Given the description of an element on the screen output the (x, y) to click on. 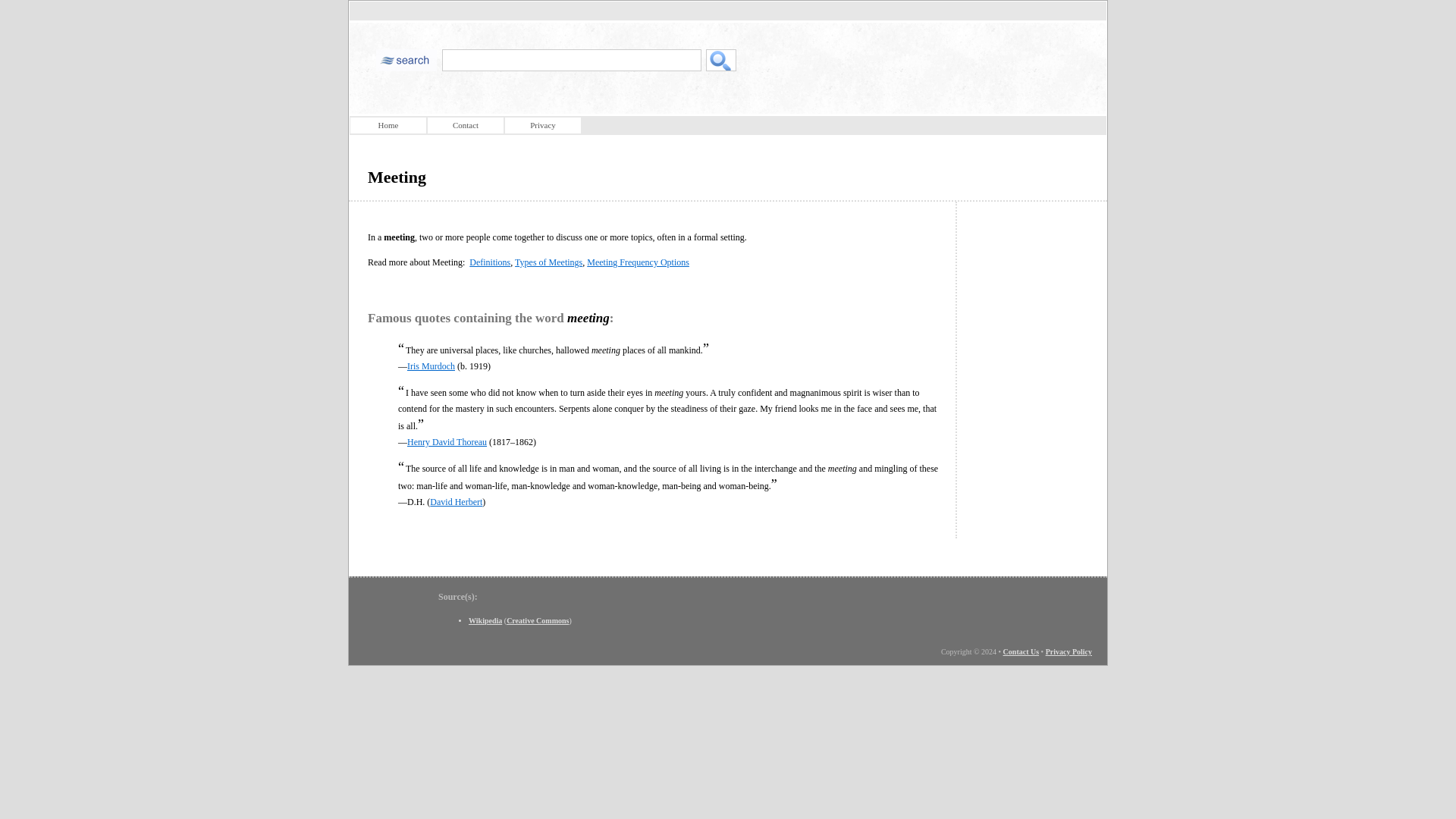
Definitions (489, 262)
Who is David Herbert? (455, 501)
Who is Iris Murdoch? (430, 366)
Contact (465, 125)
Wikipedia (485, 620)
Types of Meetings (548, 262)
Privacy Policy (1068, 651)
David Herbert (455, 501)
Creative Commons (537, 620)
Meeting Frequency Options (637, 262)
Iris Murdoch (430, 366)
Privacy (542, 125)
Who is Henry David Thoreau? (446, 441)
Contact Us (1021, 651)
Home (388, 125)
